Given the description of an element on the screen output the (x, y) to click on. 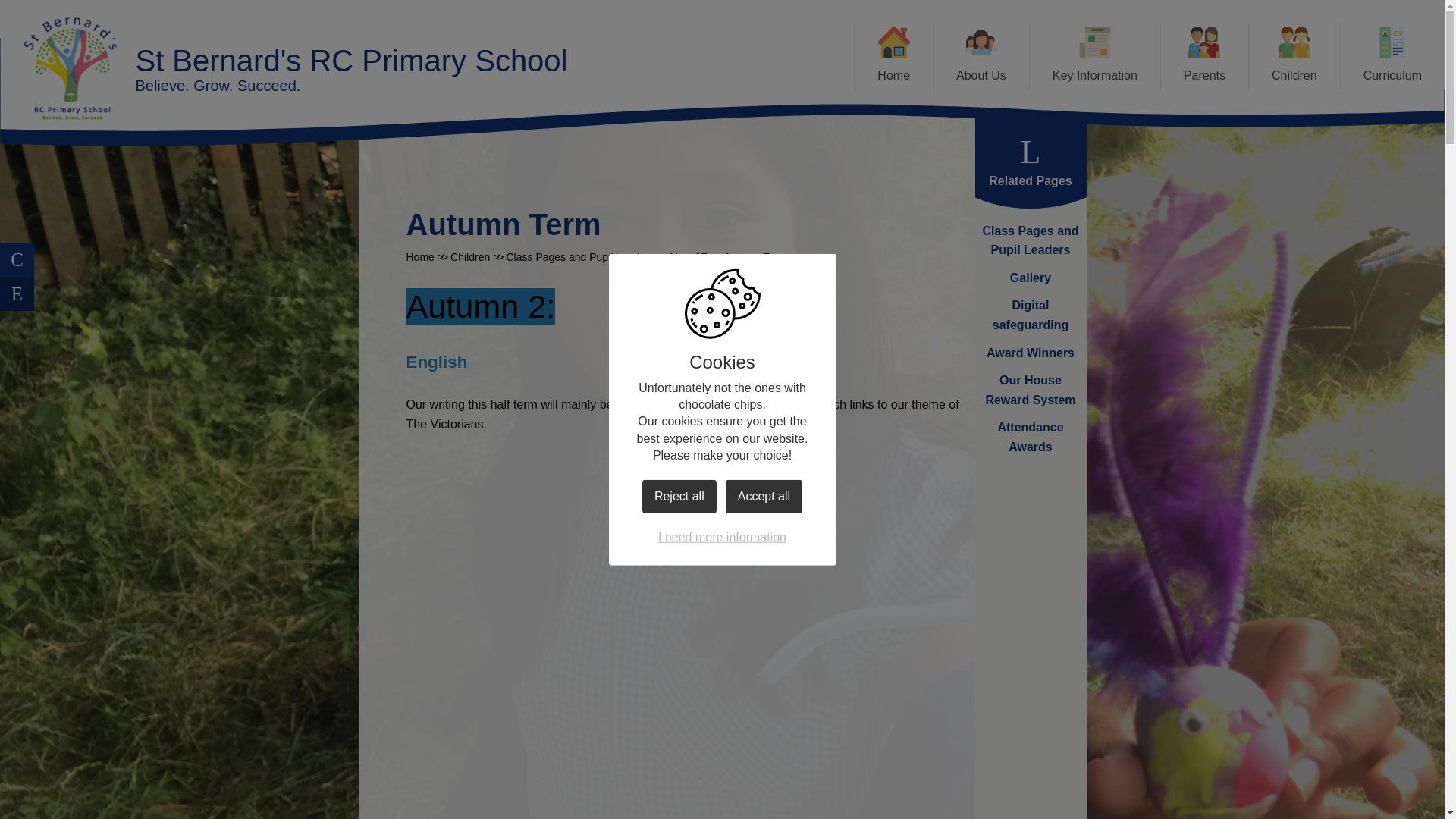
Home (893, 55)
Key Information (1094, 55)
Home Page (70, 68)
About Us (981, 55)
